Given the description of an element on the screen output the (x, y) to click on. 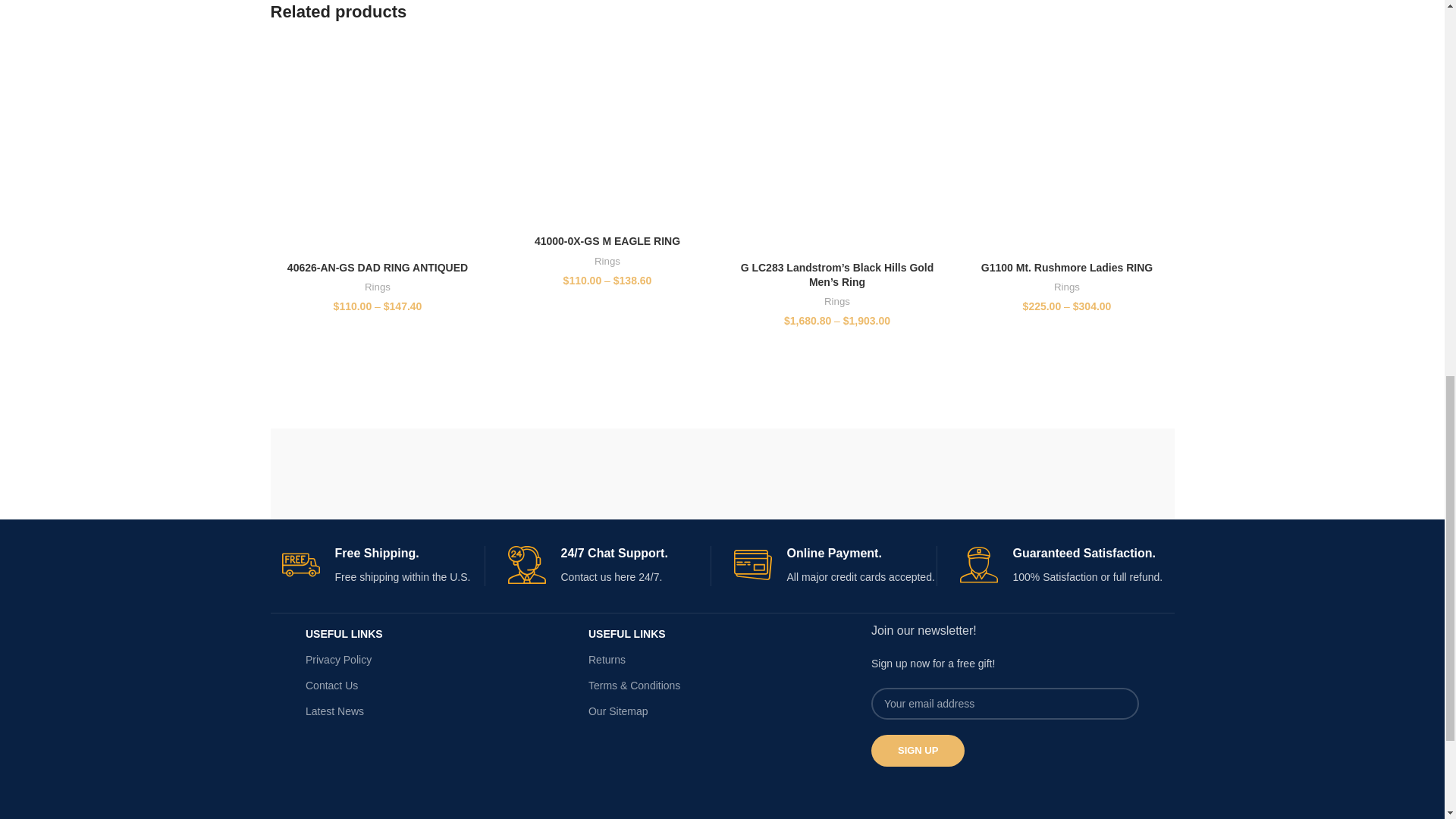
Mt. Rushmore Black Hills Gold (611, 473)
Sign up (916, 750)
Landstrom's (1055, 473)
Trj Concepts (388, 473)
